Given the description of an element on the screen output the (x, y) to click on. 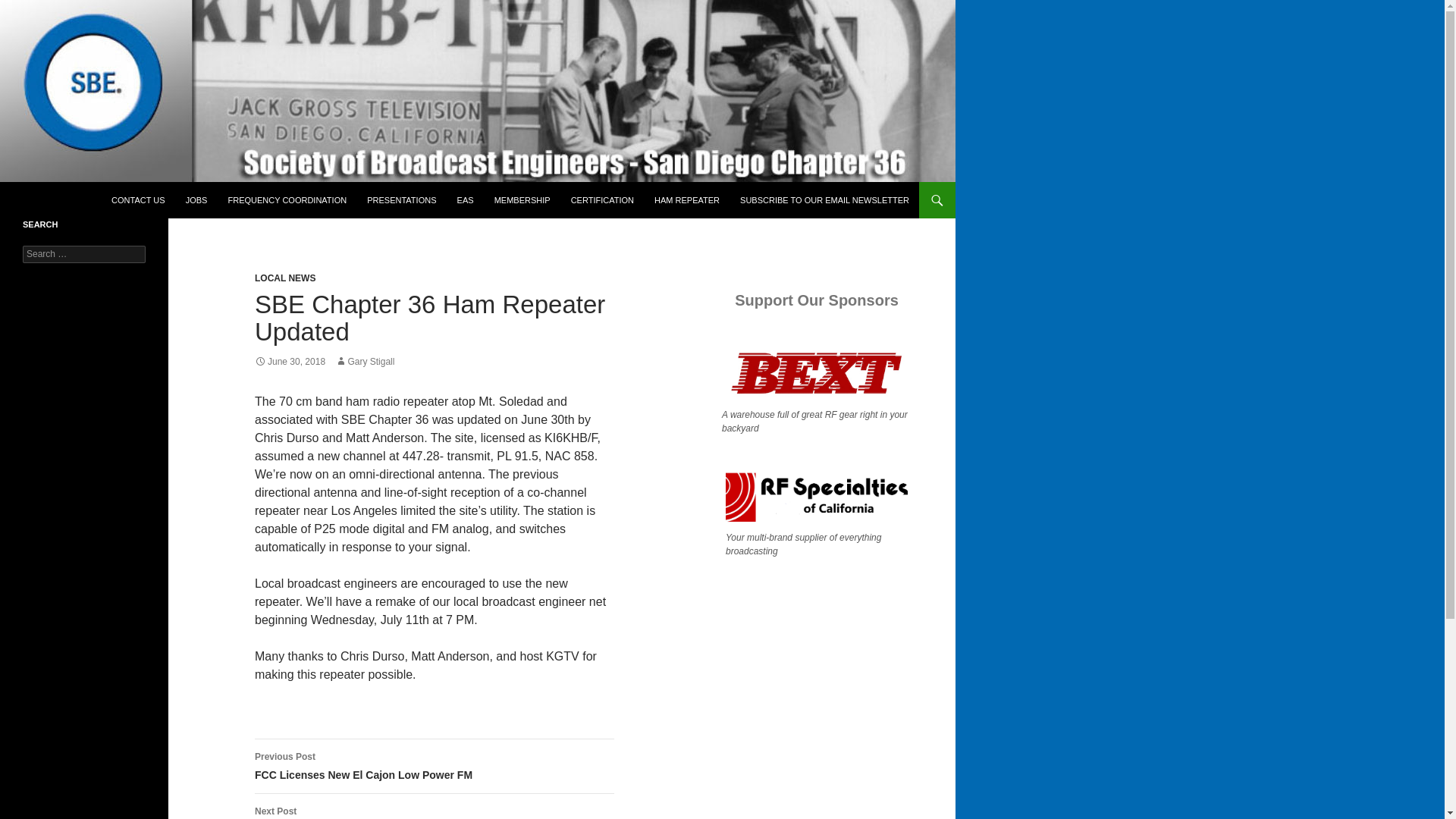
San Diego Chapter 36 (93, 199)
FREQUENCY COORDINATION (286, 199)
Search (26, 8)
CERTIFICATION (602, 199)
SUBSCRIBE TO OUR EMAIL NEWSLETTER (434, 766)
Gary Stigall (824, 199)
HAM REPEATER (364, 361)
CONTACT US (687, 199)
